Given the description of an element on the screen output the (x, y) to click on. 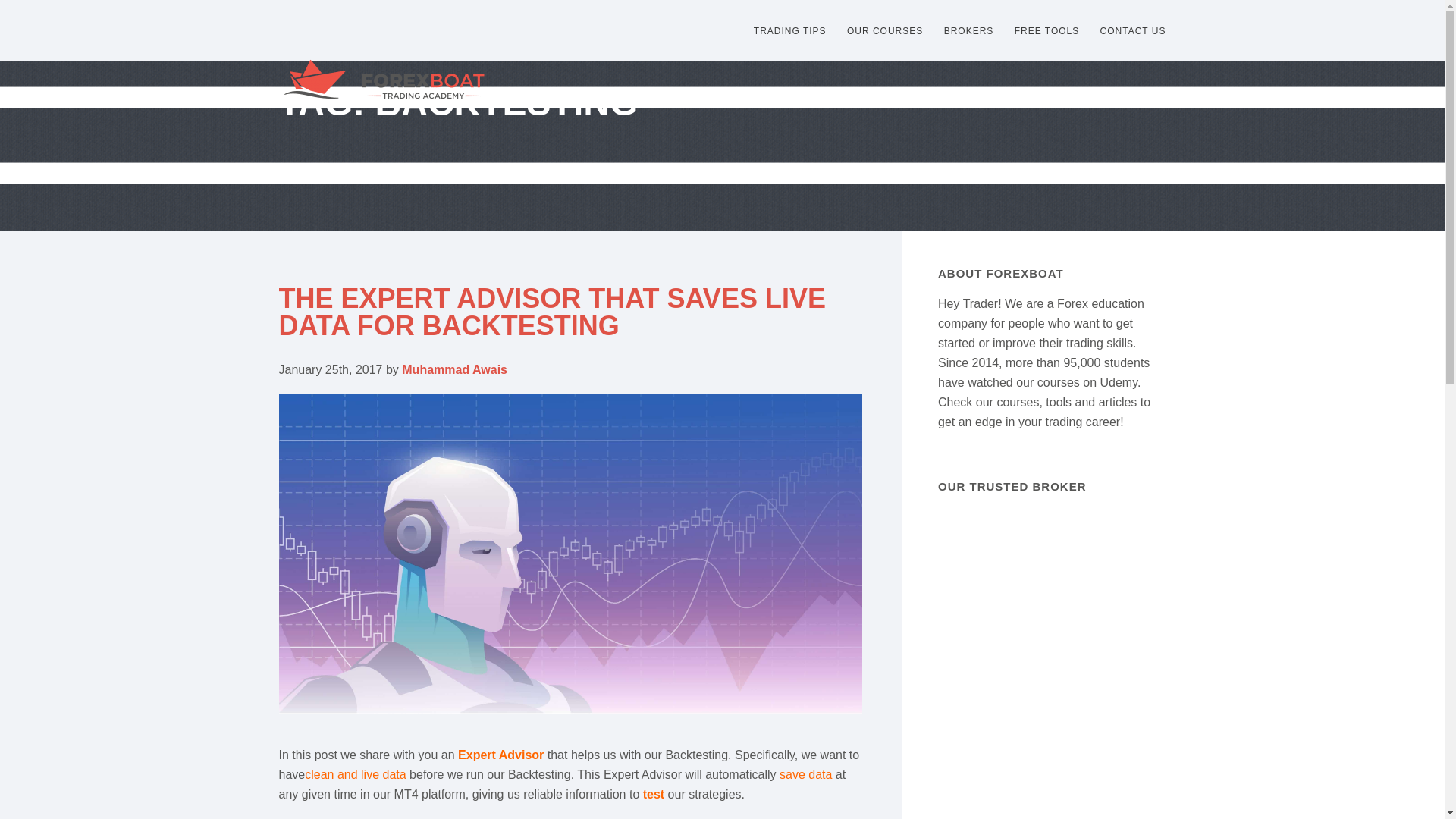
THE EXPERT ADVISOR THAT SAVES LIVE DATA FOR BACKTESTING (552, 311)
TRADING TIPS (790, 30)
OUR COURSES (885, 30)
replica watches (500, 58)
Muhammad Awais (453, 369)
FREE TOOLS (1047, 30)
BROKERS (968, 30)
CONTACT US (1133, 30)
